Given the description of an element on the screen output the (x, y) to click on. 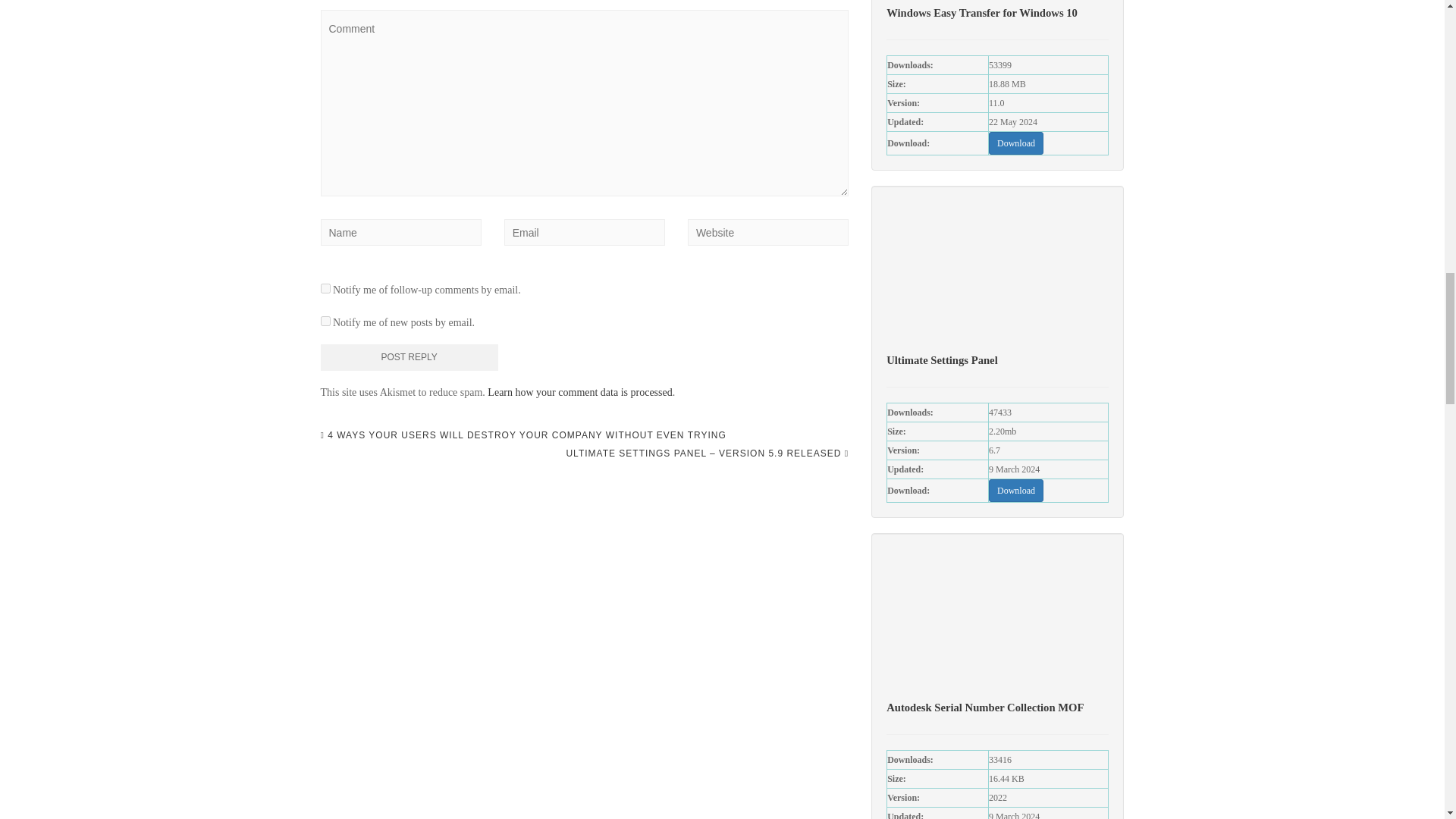
subscribe (325, 288)
subscribe (325, 320)
Post Reply (408, 357)
